Given the description of an element on the screen output the (x, y) to click on. 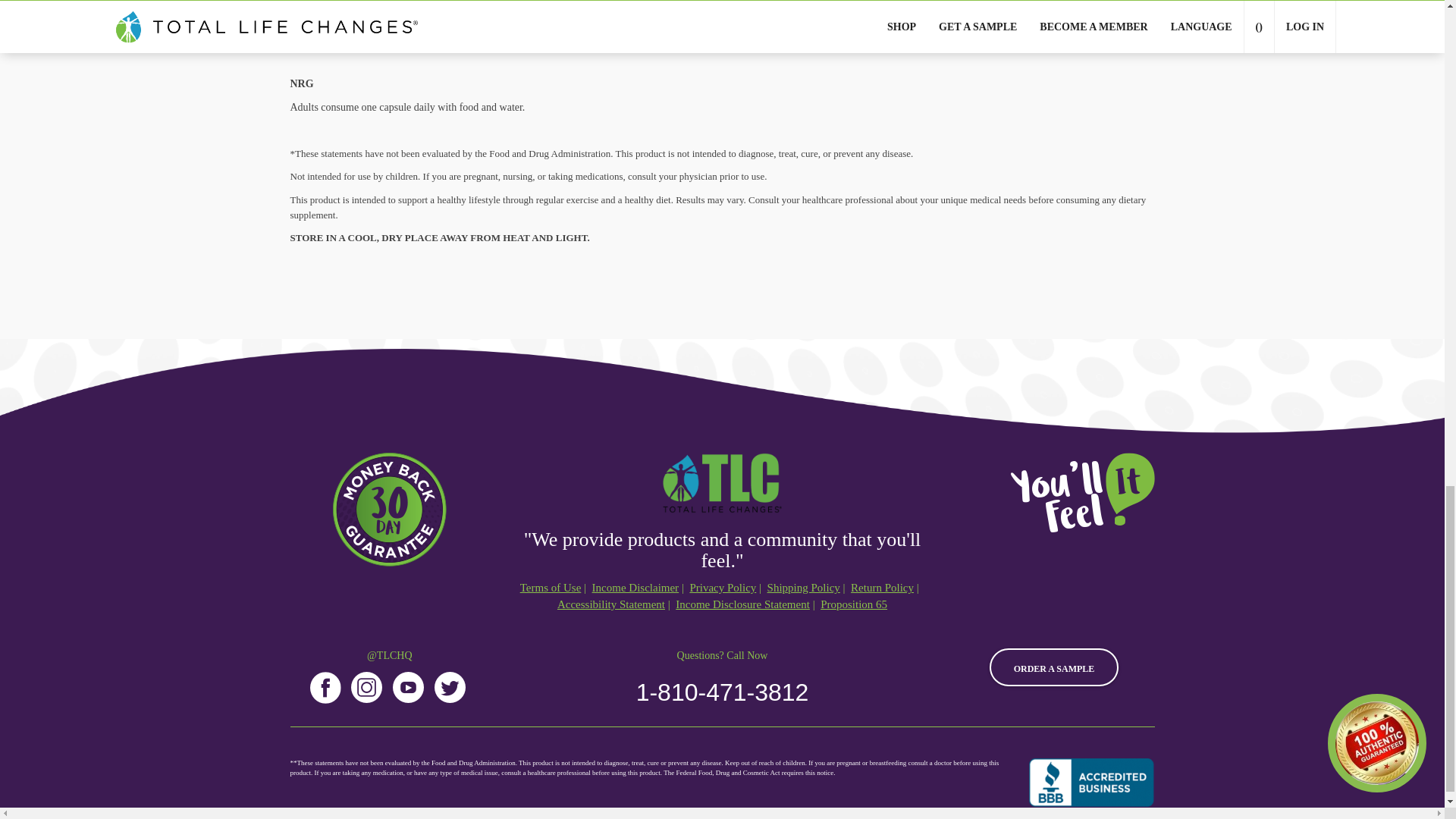
Shipping Policy (803, 587)
Income Disclosure Statement (742, 604)
Income Disclaimer (635, 587)
ORDER A SAMPLE (1054, 667)
Proposition 65 (853, 604)
Terms of Use (549, 587)
Accessibility Statement (611, 604)
Privacy Policy (721, 587)
Return Policy (882, 587)
